Given the description of an element on the screen output the (x, y) to click on. 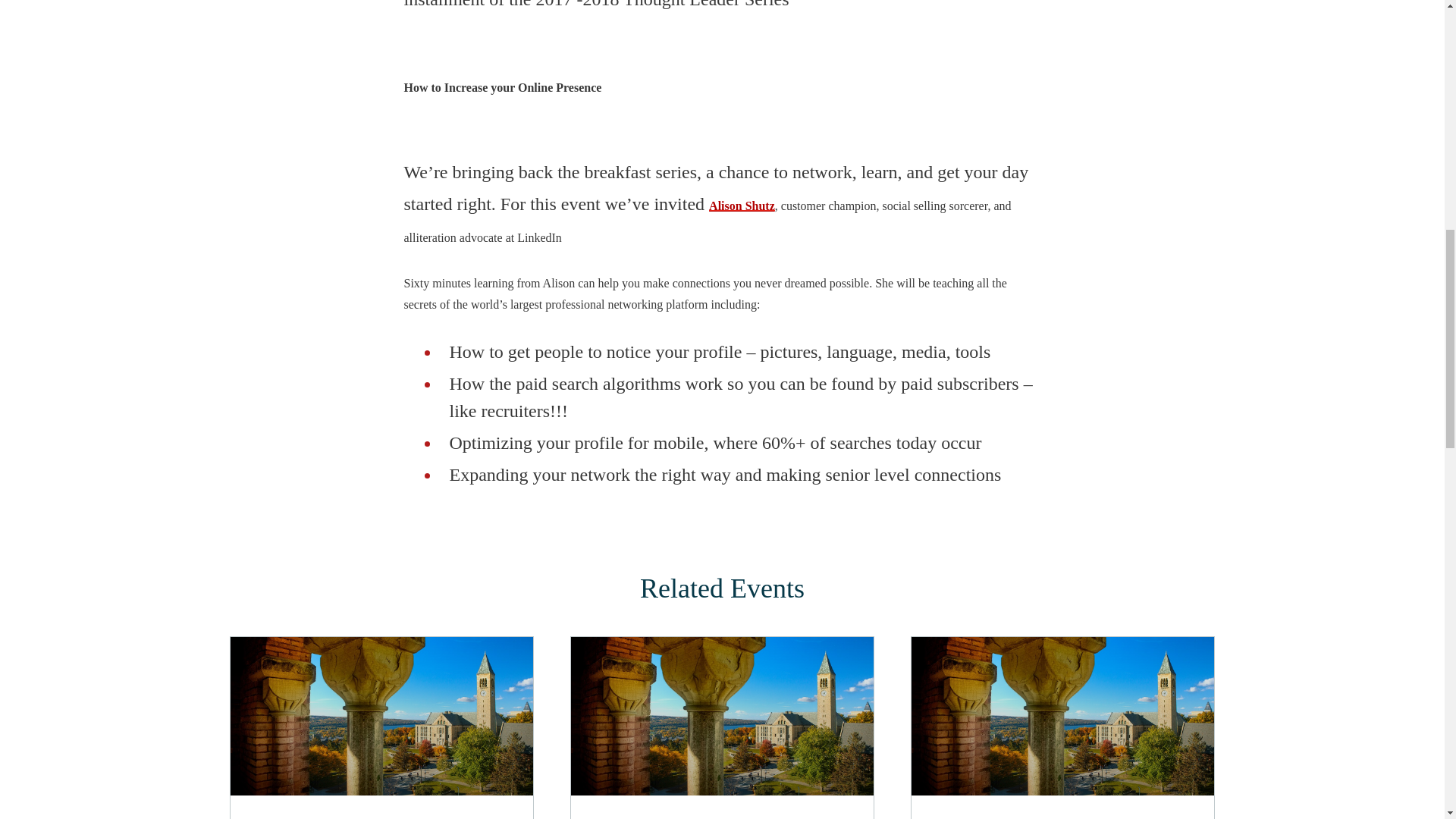
Alison Shutz (741, 205)
